Given the description of an element on the screen output the (x, y) to click on. 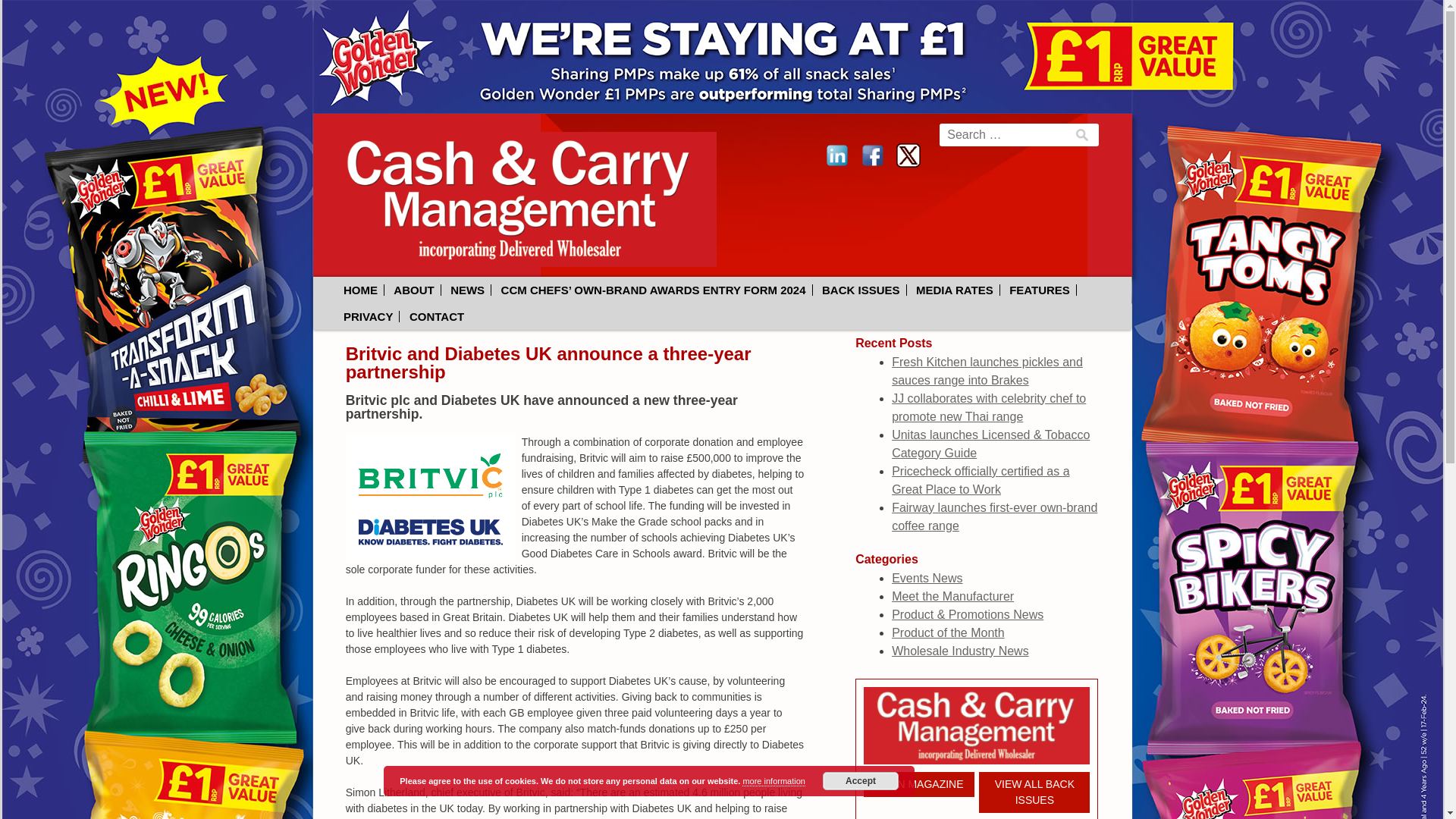
CONTACT (436, 316)
BACK ISSUES (861, 289)
Britvic and Diabetes UK announce a three-year partnership (548, 362)
NEWS (468, 289)
MEDIA RATES (955, 289)
Search for: (1019, 134)
Search (44, 21)
Fresh Kitchen launches pickles and sauces range into Brakes (987, 370)
ABOUT (414, 289)
FEATURES (1040, 289)
